Given the description of an element on the screen output the (x, y) to click on. 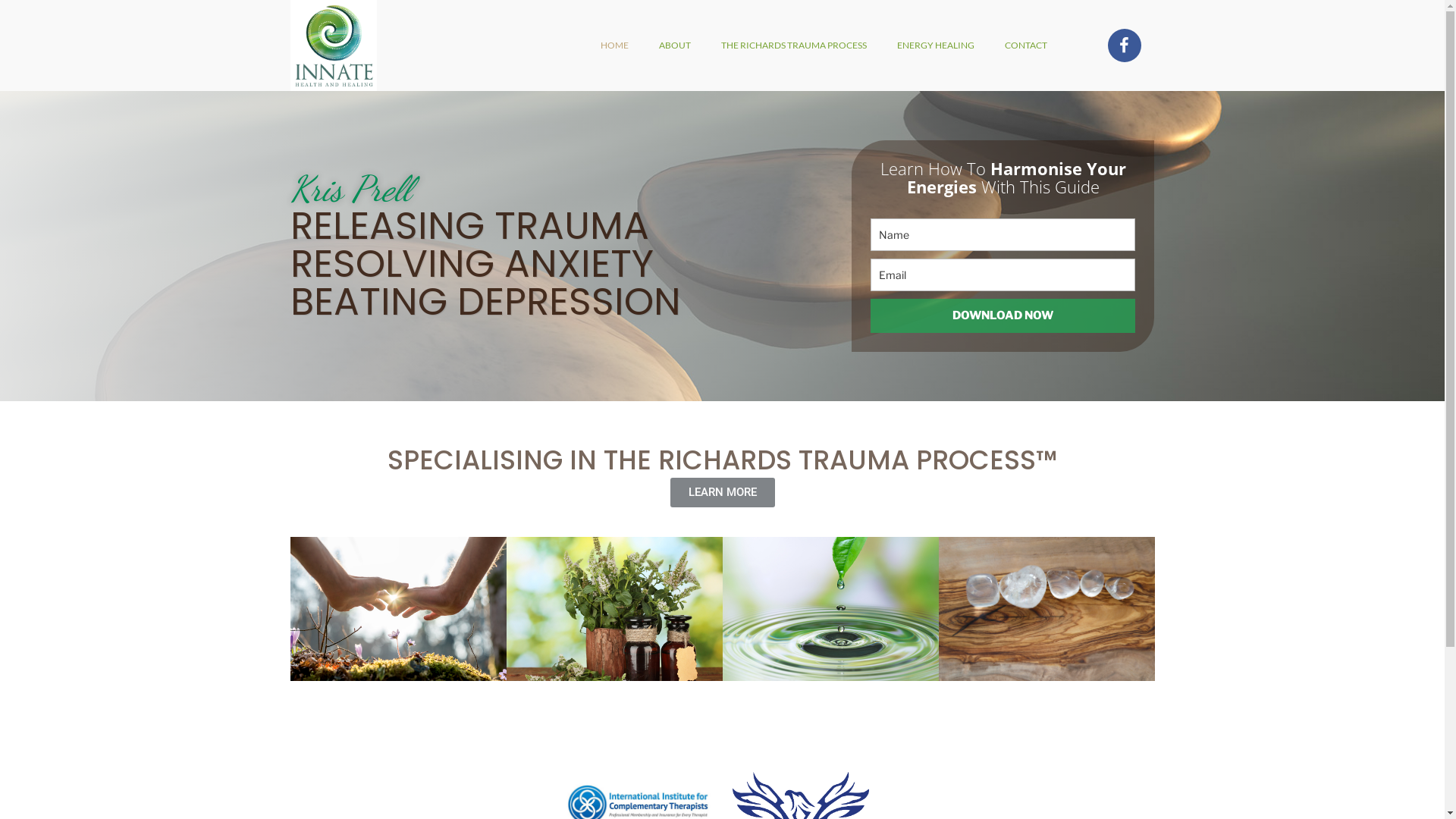
ENERGY HEALING Element type: text (935, 45)
HOME Element type: text (614, 45)
THE RICHARDS TRAUMA PROCESS Element type: text (793, 45)
LEARN MORE Element type: text (722, 492)
ABOUT Element type: text (674, 45)
Download Now Element type: text (1002, 315)
CONTACT Element type: text (1025, 45)
